Given the description of an element on the screen output the (x, y) to click on. 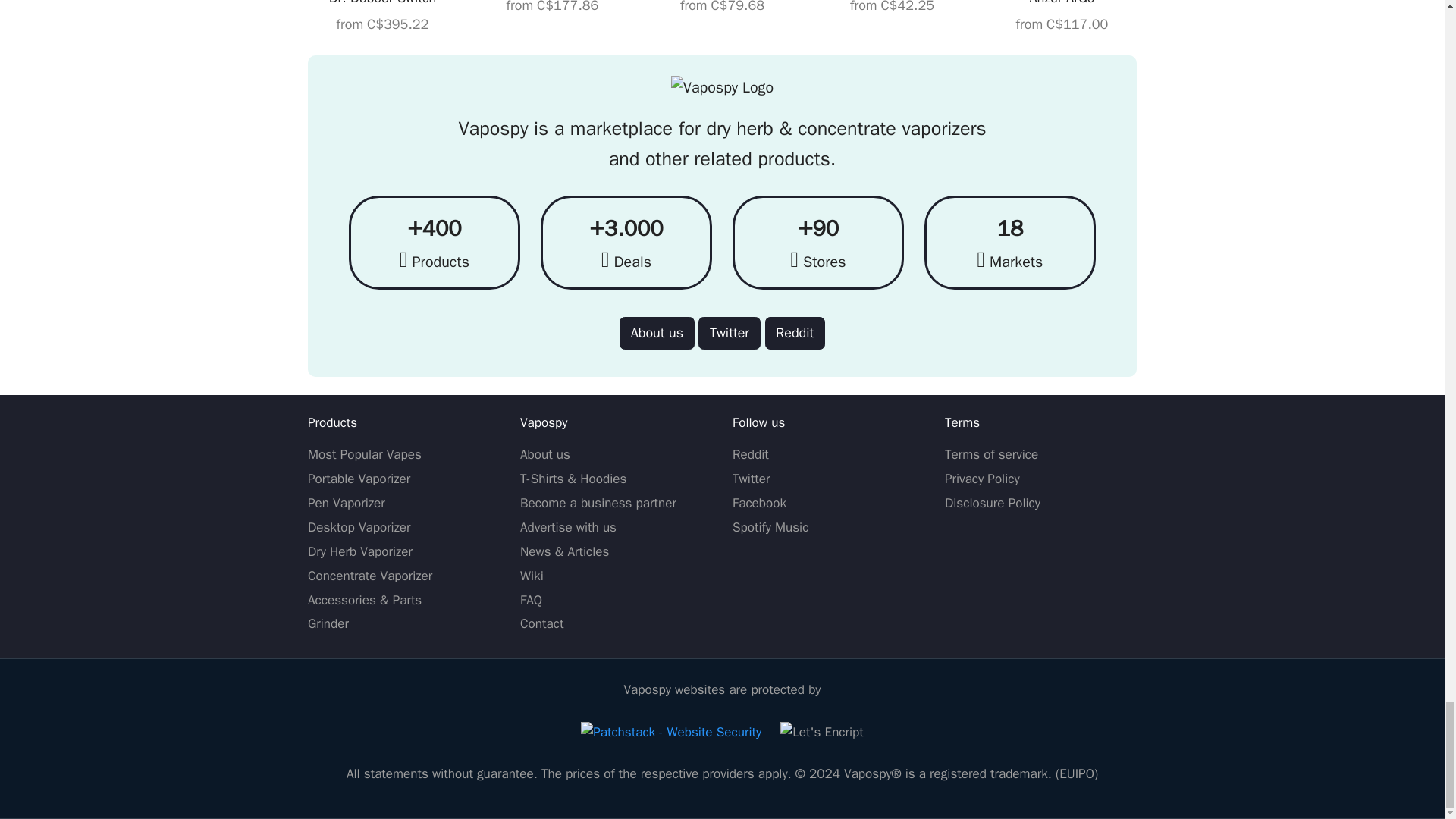
Flowermate V5.0S Pro (552, 7)
